Given the description of an element on the screen output the (x, y) to click on. 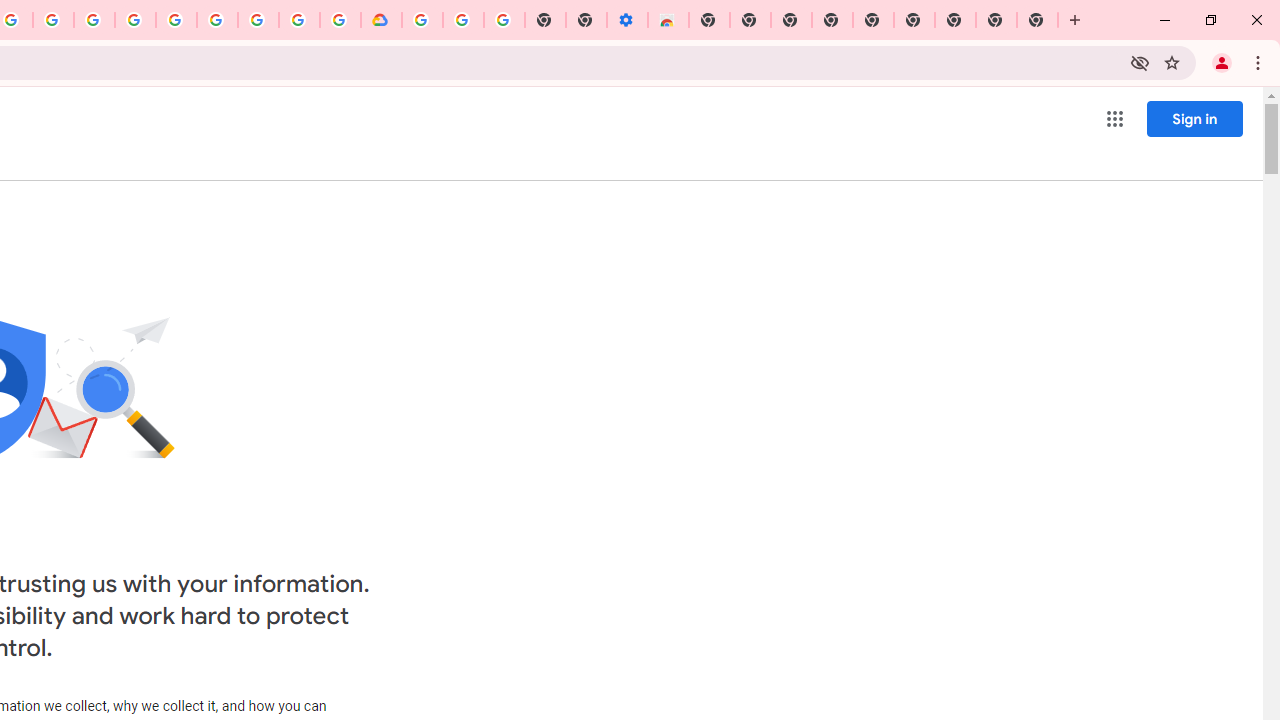
New Tab (708, 20)
Sign in - Google Accounts (176, 20)
Browse the Google Chrome Community - Google Chrome Community (340, 20)
Chrome Web Store - Accessibility extensions (667, 20)
Google Account Help (462, 20)
New Tab (1037, 20)
